Given the description of an element on the screen output the (x, y) to click on. 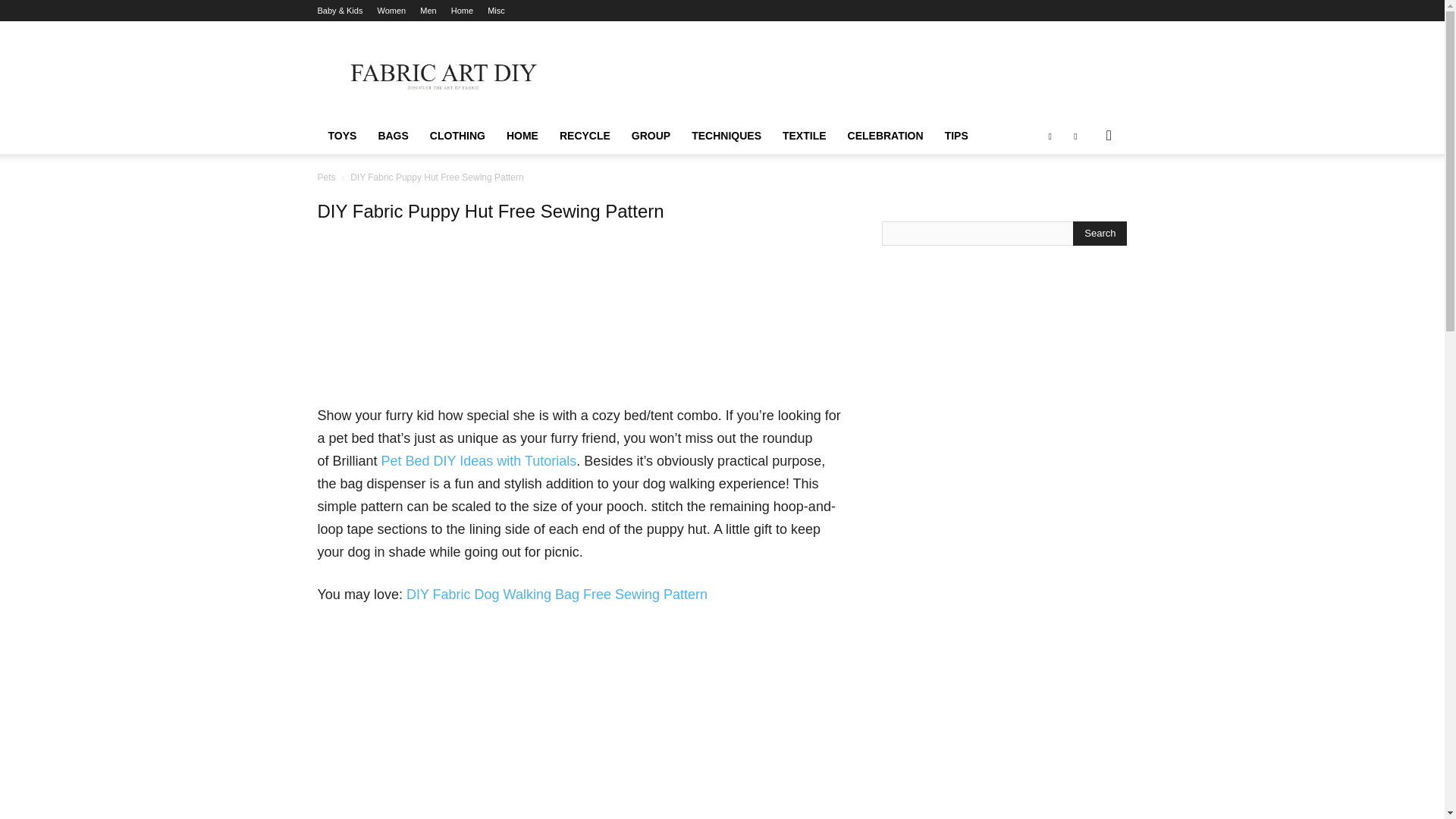
Search (1099, 233)
View all posts in Pets (325, 176)
Advertisement (580, 330)
